Given the description of an element on the screen output the (x, y) to click on. 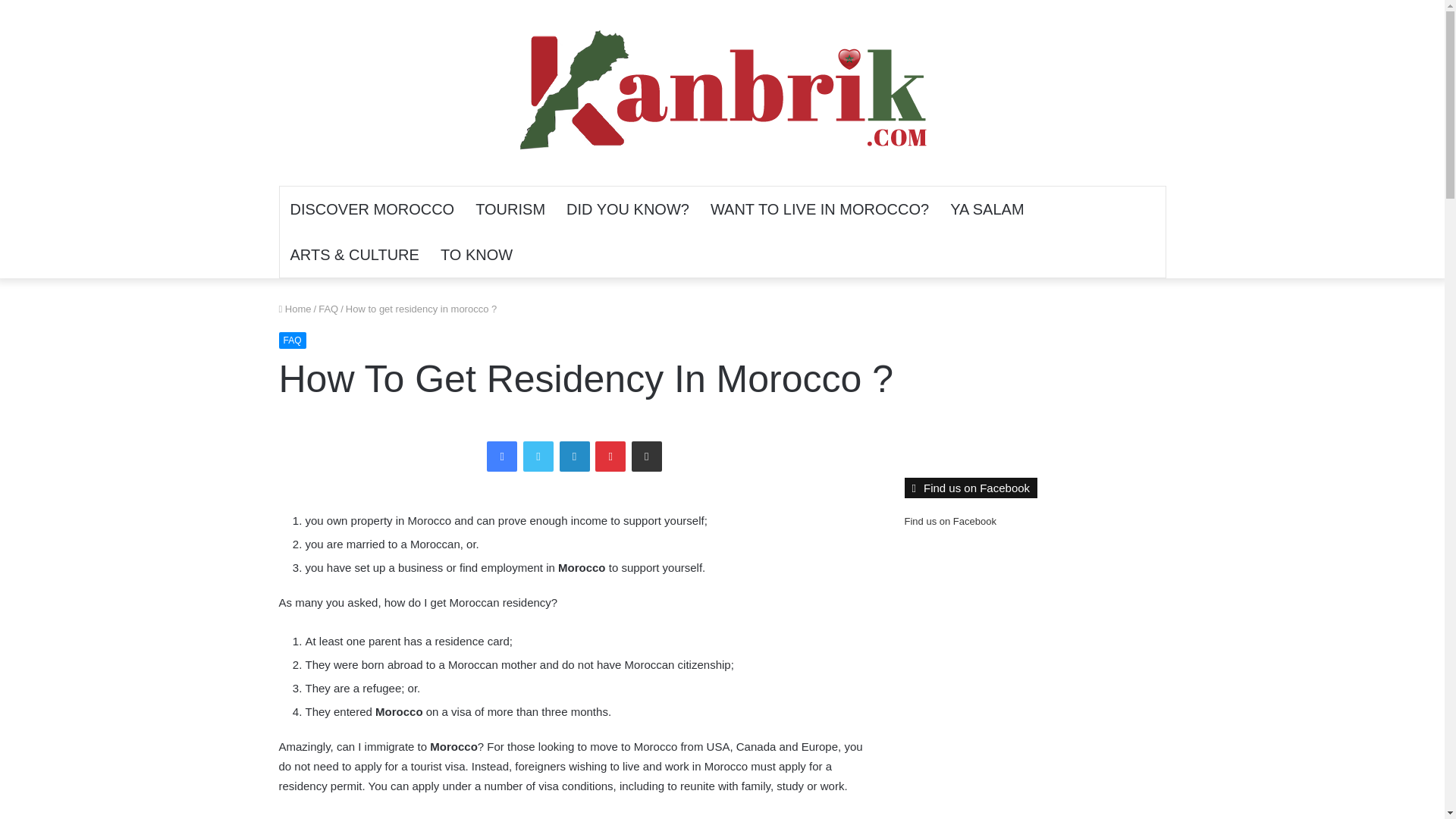
Facebook (501, 456)
Pinterest (610, 456)
TOURISM (510, 208)
Facebook (501, 456)
YA SALAM (986, 208)
WANT TO LIVE IN MOROCCO? (819, 208)
Kanbrik.com (722, 92)
Share via Email (646, 456)
Pinterest (610, 456)
LinkedIn (574, 456)
